Given the description of an element on the screen output the (x, y) to click on. 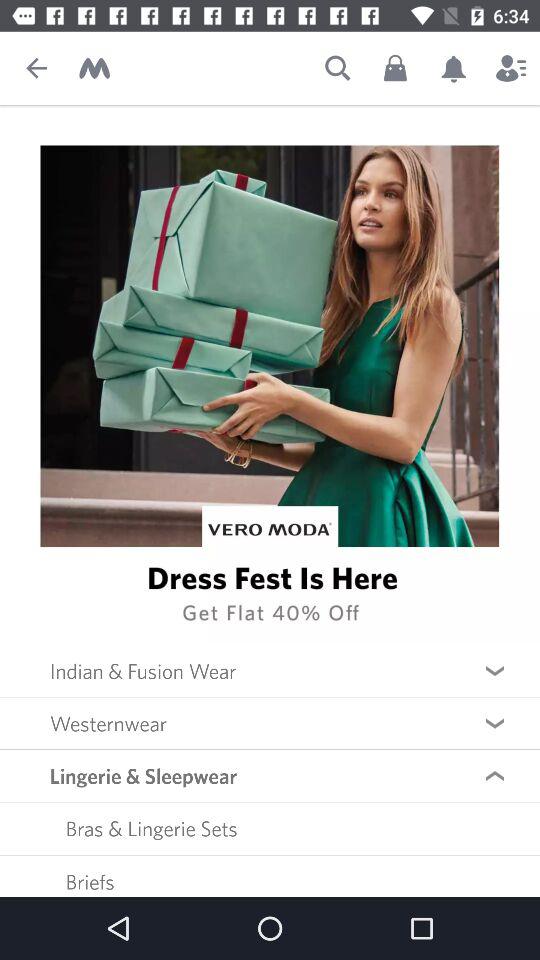
search input option (337, 68)
